Given the description of an element on the screen output the (x, y) to click on. 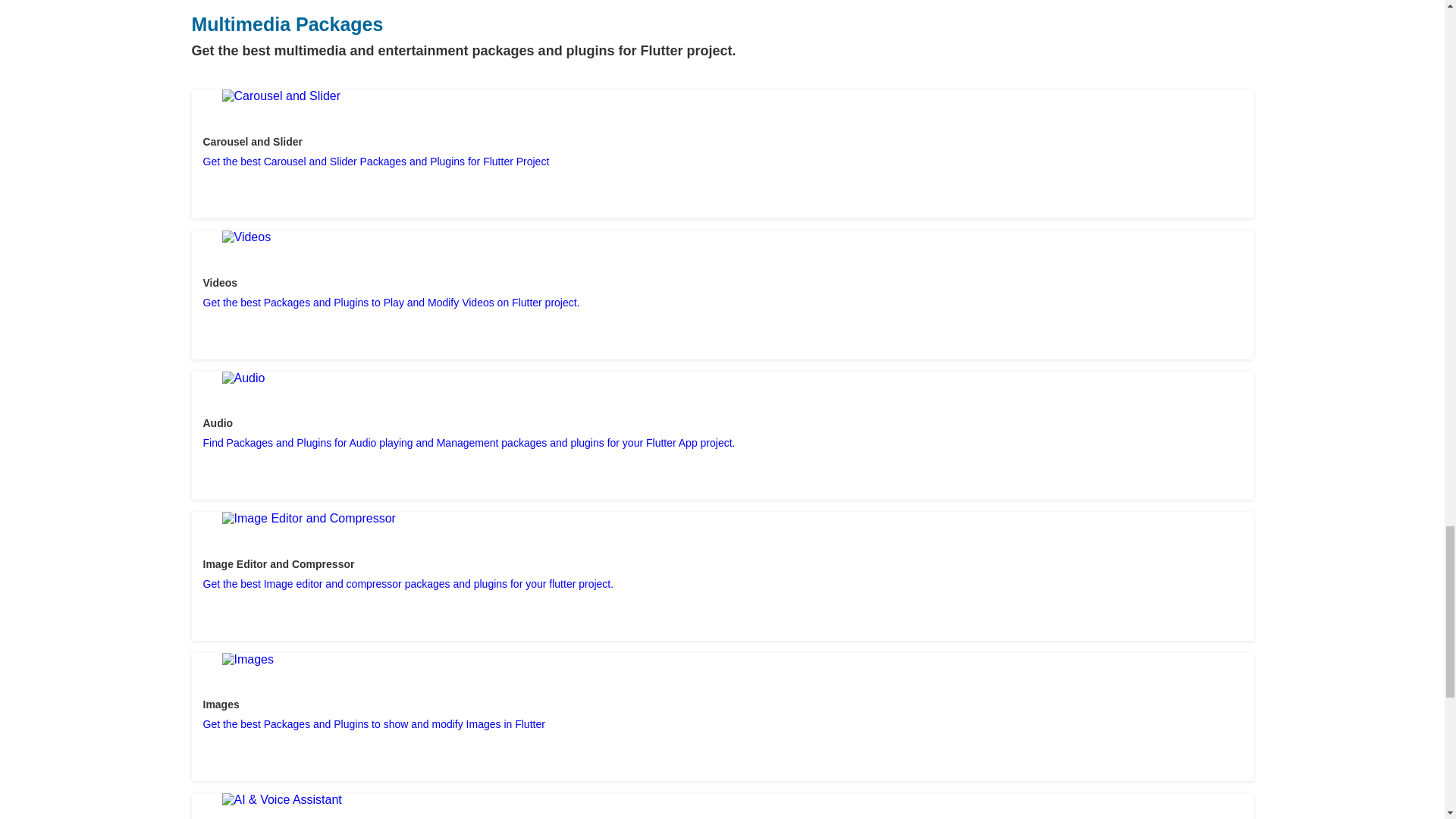
Images (247, 659)
Videos (245, 237)
Image Editor and Compressor  (307, 518)
Carousel and Slider (280, 96)
Multimedia Packages (286, 24)
